Given the description of an element on the screen output the (x, y) to click on. 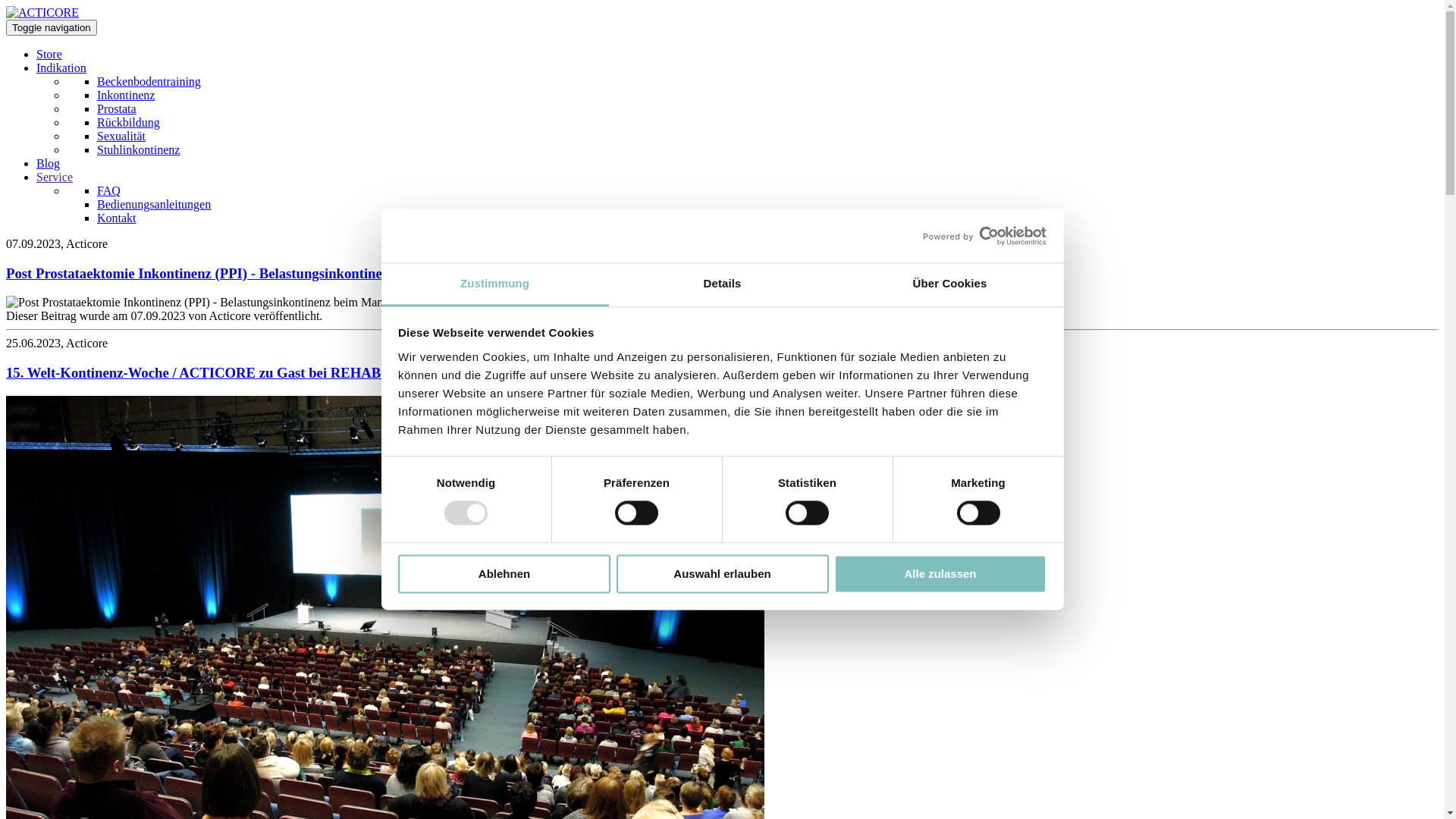
Bedienungsanleitungen Element type: text (153, 203)
Stuhlinkontinenz Element type: text (138, 149)
Blog Element type: text (47, 162)
Zustimmung Element type: text (494, 284)
Ablehnen Element type: text (504, 573)
Prostata Element type: text (116, 108)
Service Element type: text (54, 176)
Alle zulassen Element type: text (940, 573)
ACTICORE Element type: hover (42, 12)
FAQ Element type: text (108, 190)
Indikation Element type: text (61, 67)
Toggle navigation Element type: text (51, 27)
Details Element type: text (721, 284)
Inkontinenz Element type: text (125, 94)
Auswahl erlauben Element type: text (721, 573)
Beckenbodentraining Element type: text (148, 81)
Kontakt Element type: text (116, 217)
Store Element type: text (49, 53)
